Given the description of an element on the screen output the (x, y) to click on. 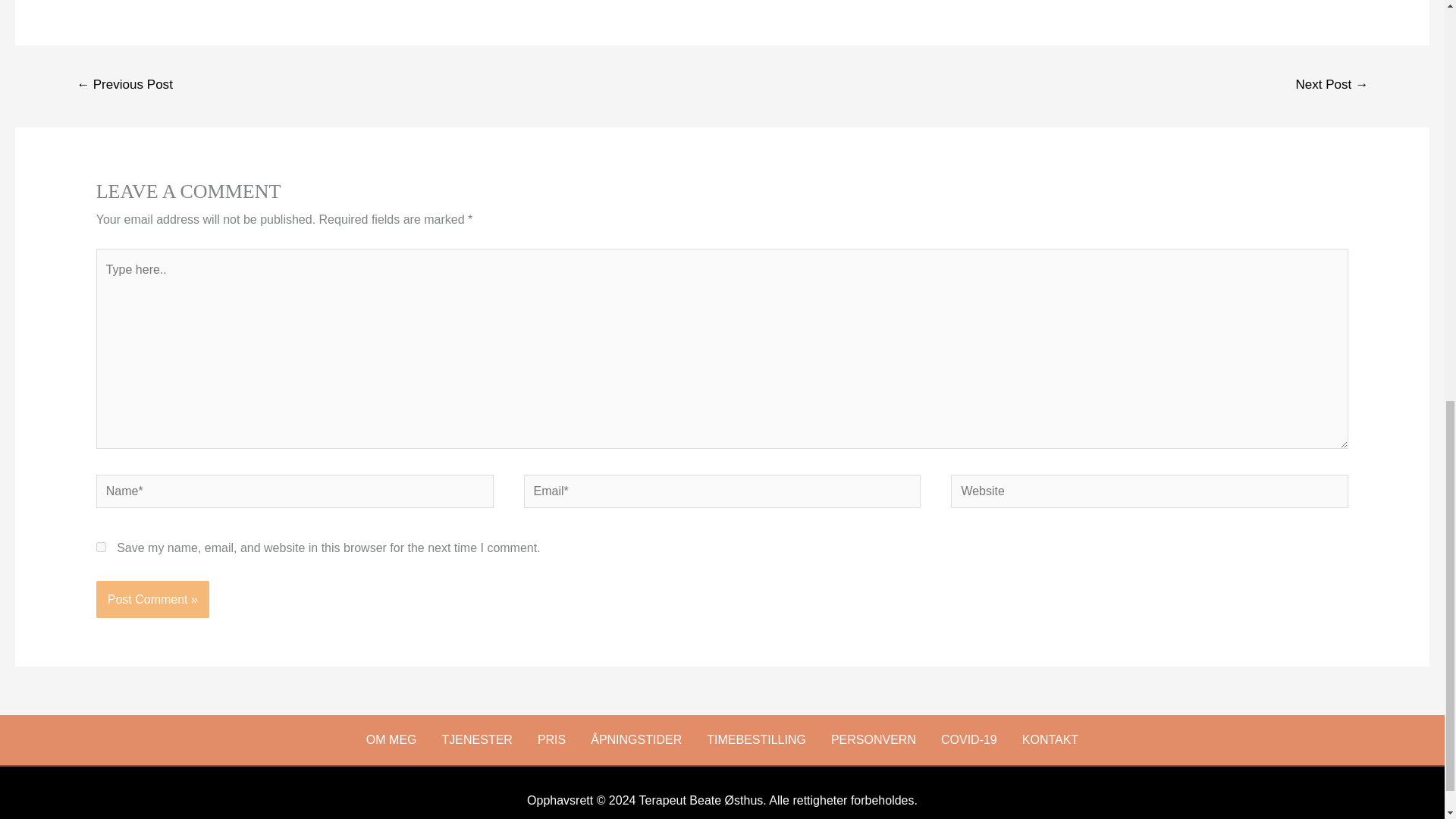
PRIS (550, 739)
TJENESTER (477, 739)
yes (101, 547)
TIMEBESTILLING (755, 739)
PERSONVERN (873, 739)
COVID-19 (969, 739)
OM MEG (391, 739)
KONTAKT (1049, 739)
